Given the description of an element on the screen output the (x, y) to click on. 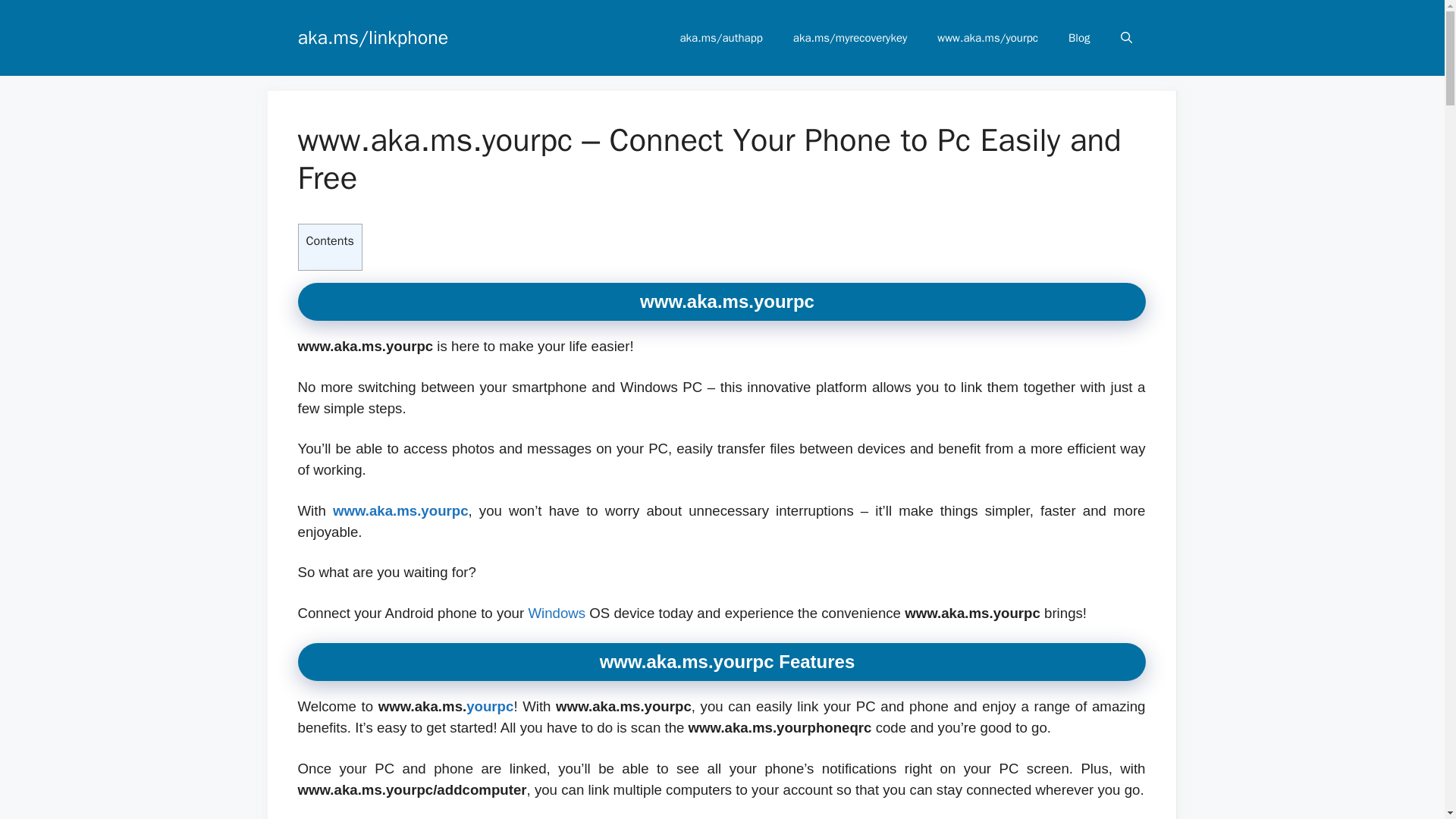
www.aka.ms.yourpc (400, 510)
yourpc (489, 706)
Blog (1078, 37)
Windows (556, 612)
Windows (556, 612)
yourpc (489, 706)
